Given the description of an element on the screen output the (x, y) to click on. 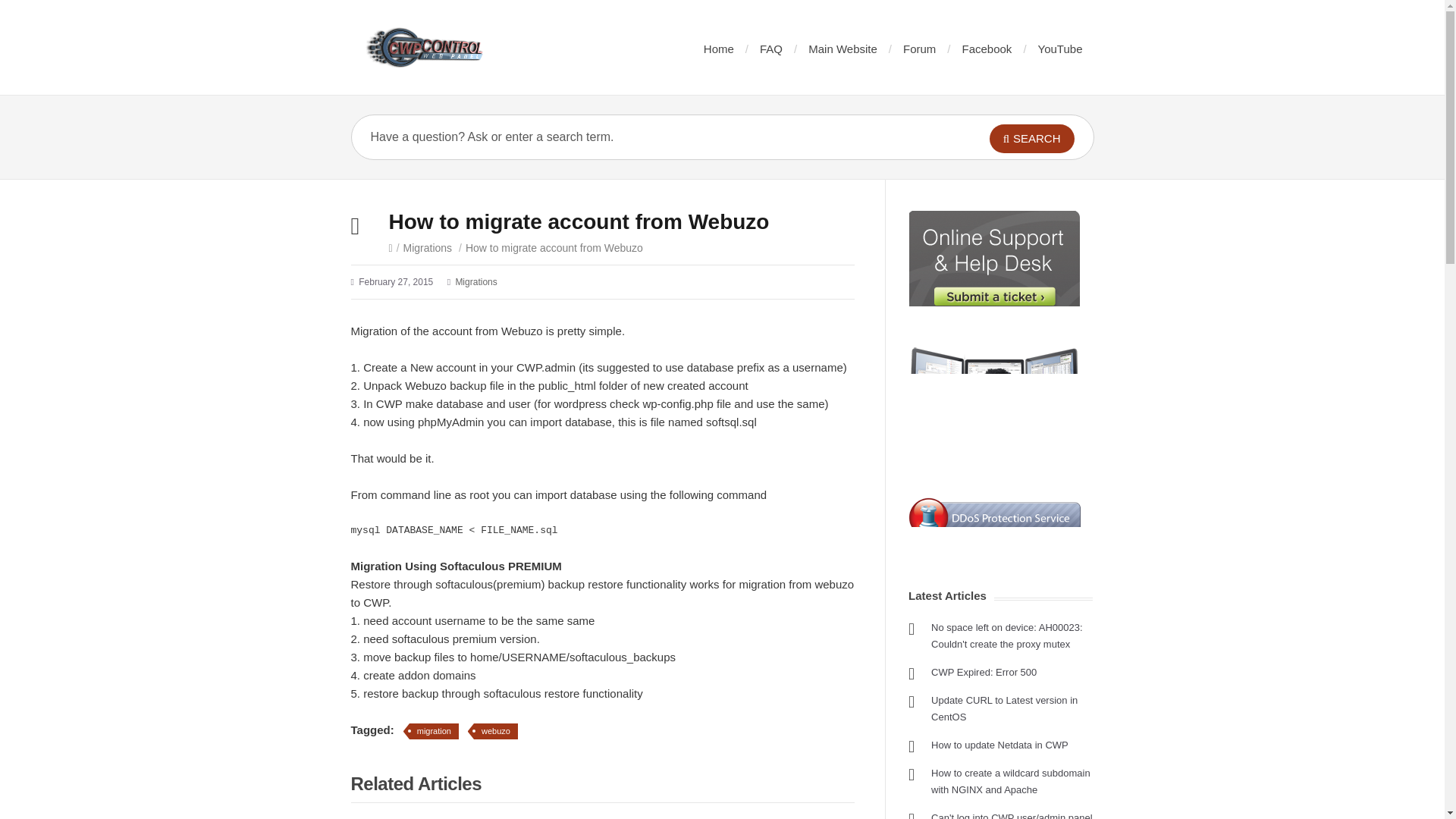
Facebook (985, 48)
How to create a wildcard subdomain with NGINX and Apache (1010, 781)
SEARCH (1032, 138)
View all posts in Migrations (427, 247)
How to update Netdata in CWP (999, 745)
Home (718, 48)
Main Website (842, 48)
Have a question? Ask or enter a search term. (648, 136)
YouTube (1060, 48)
